Given the description of an element on the screen output the (x, y) to click on. 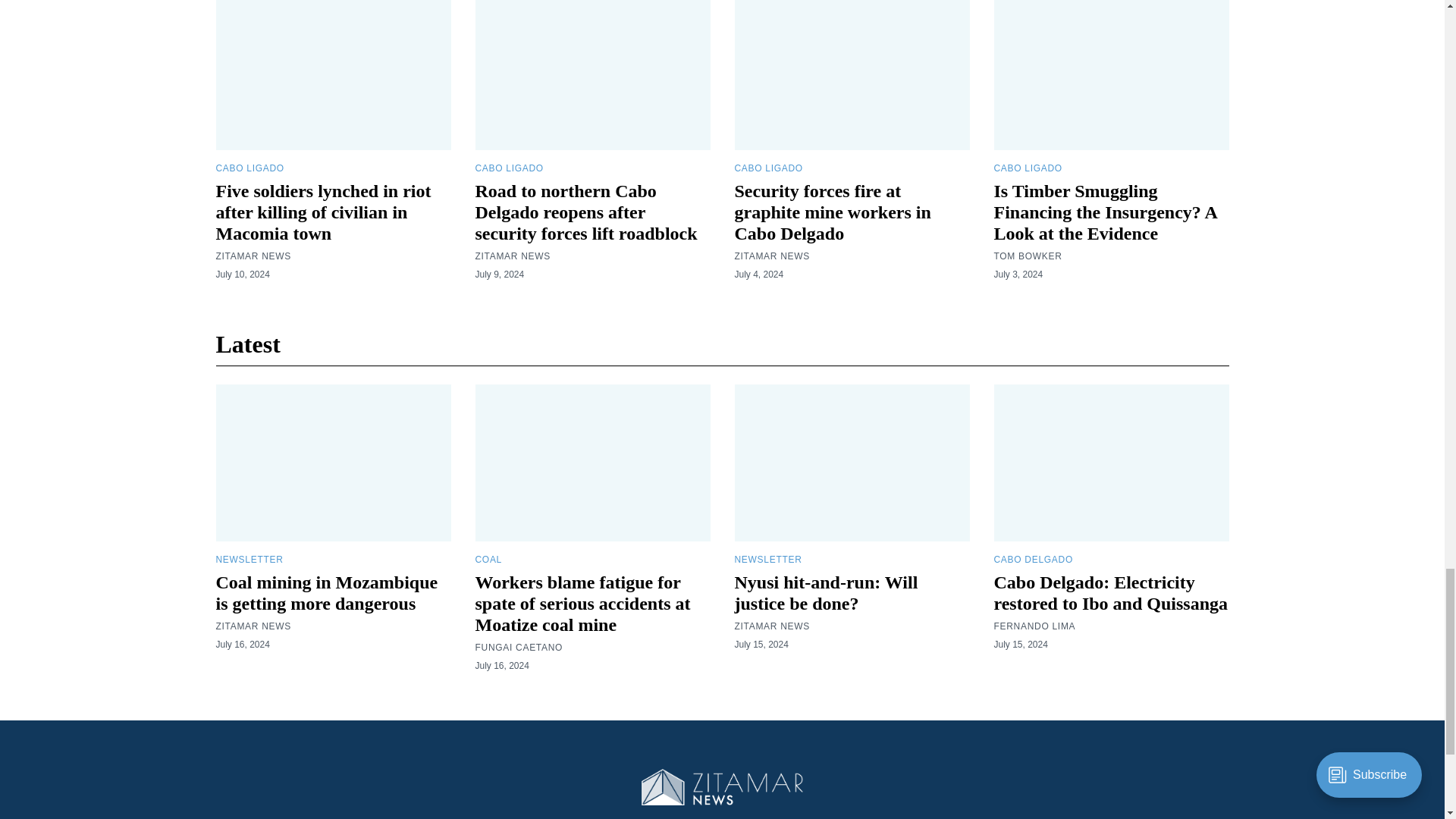
CABO LIGADO (249, 167)
